Given the description of an element on the screen output the (x, y) to click on. 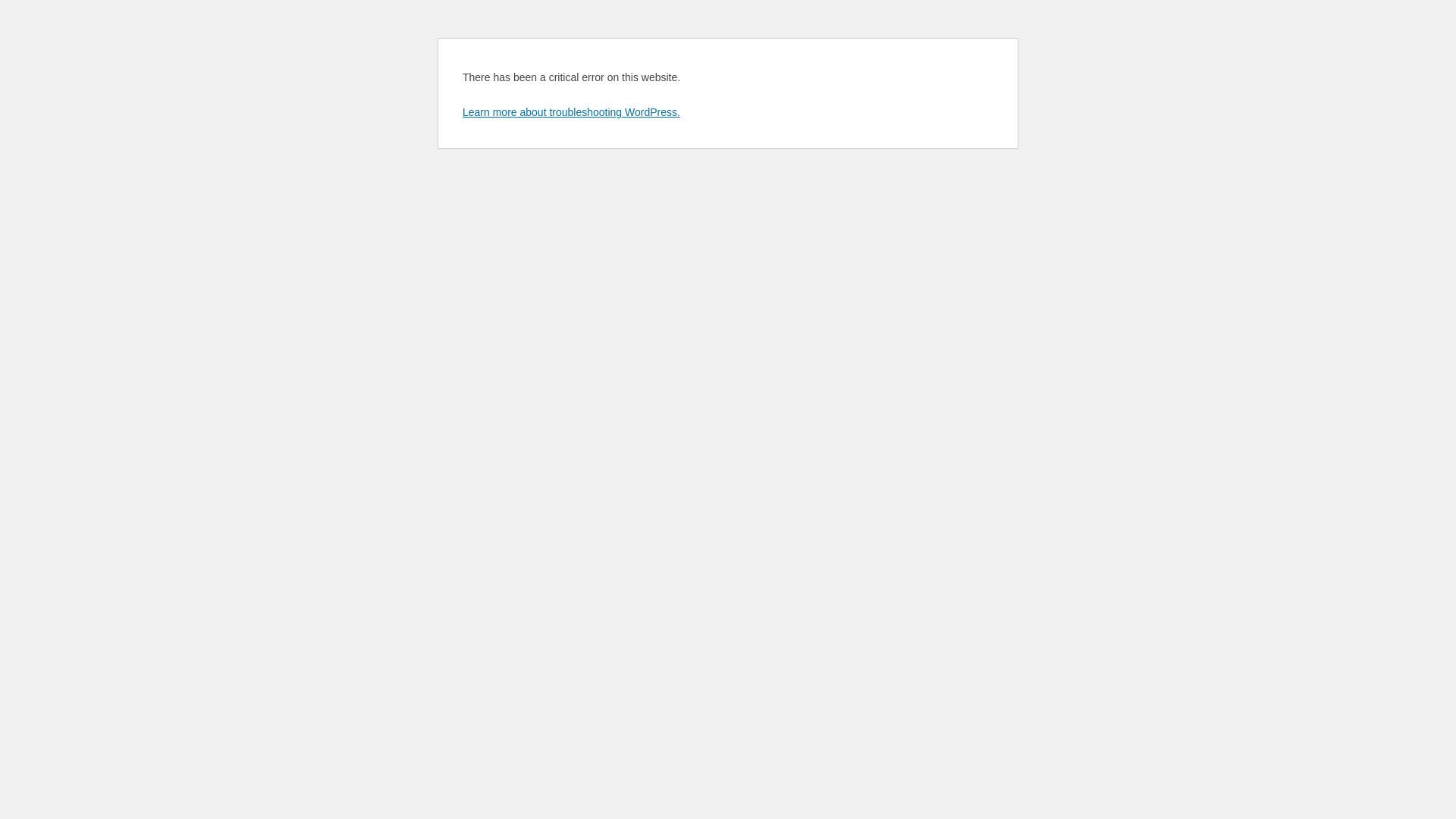
Learn more about troubleshooting WordPress. Element type: text (571, 112)
